Given the description of an element on the screen output the (x, y) to click on. 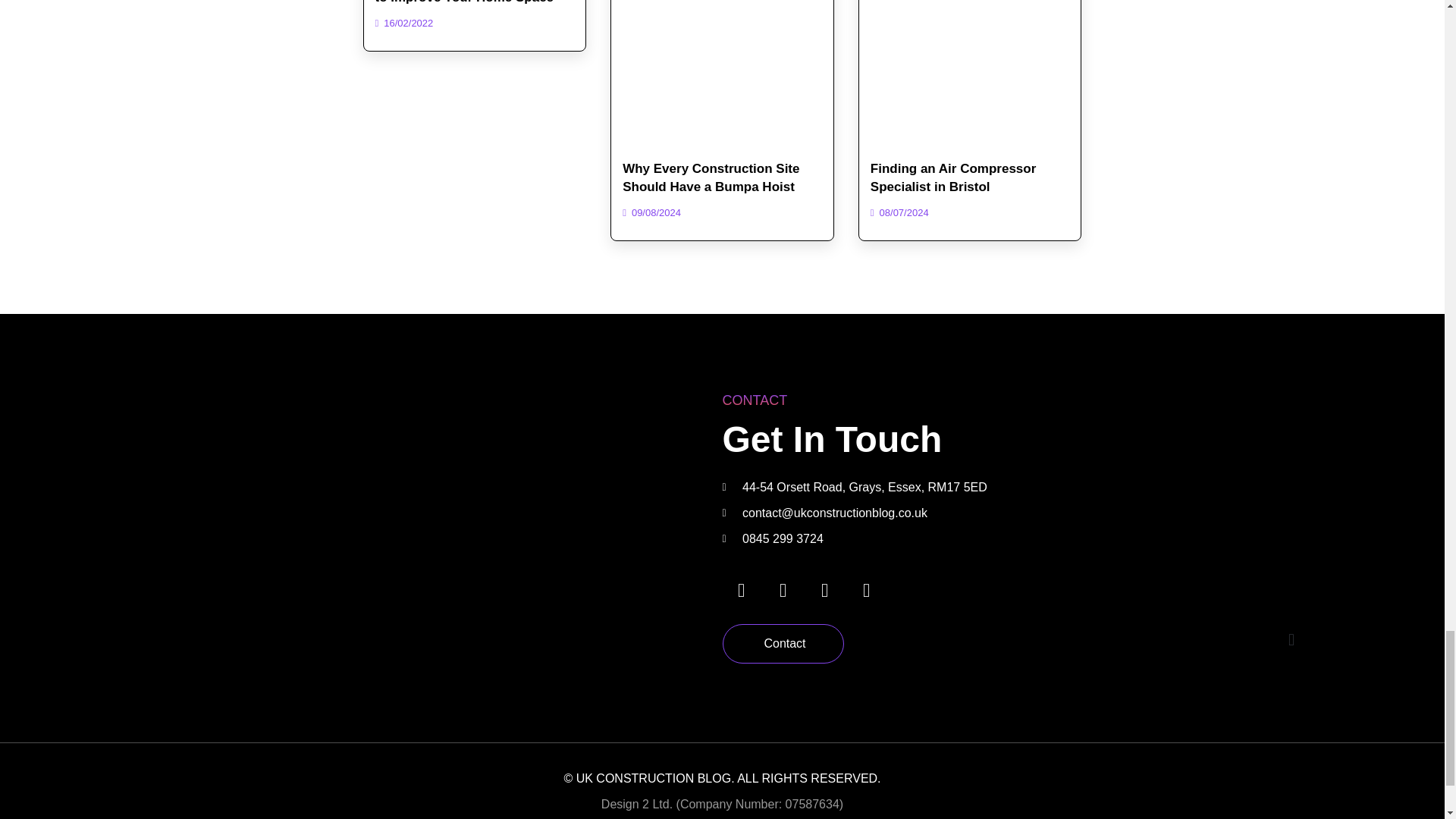
8 Amazing Interior Design Tips to Improve Your Home Space (468, 2)
Finding an Air Compressor Specialist in Bristol (953, 177)
Why Every Construction Site Should Have a Bumpa Hoist (711, 177)
